Given the description of an element on the screen output the (x, y) to click on. 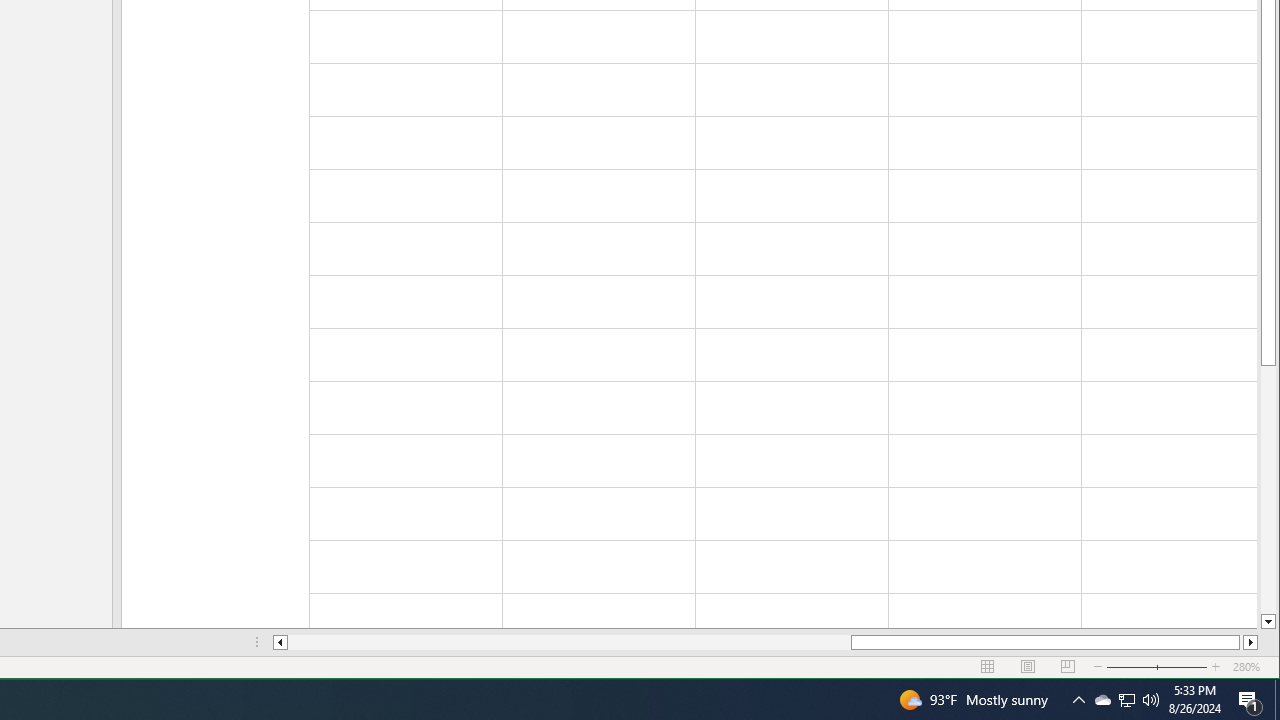
Action Center, 1 new notification (1250, 699)
Q2790: 100% (1151, 699)
Notification Chevron (1126, 699)
User Promoted Notification Area (1078, 699)
